Given the description of an element on the screen output the (x, y) to click on. 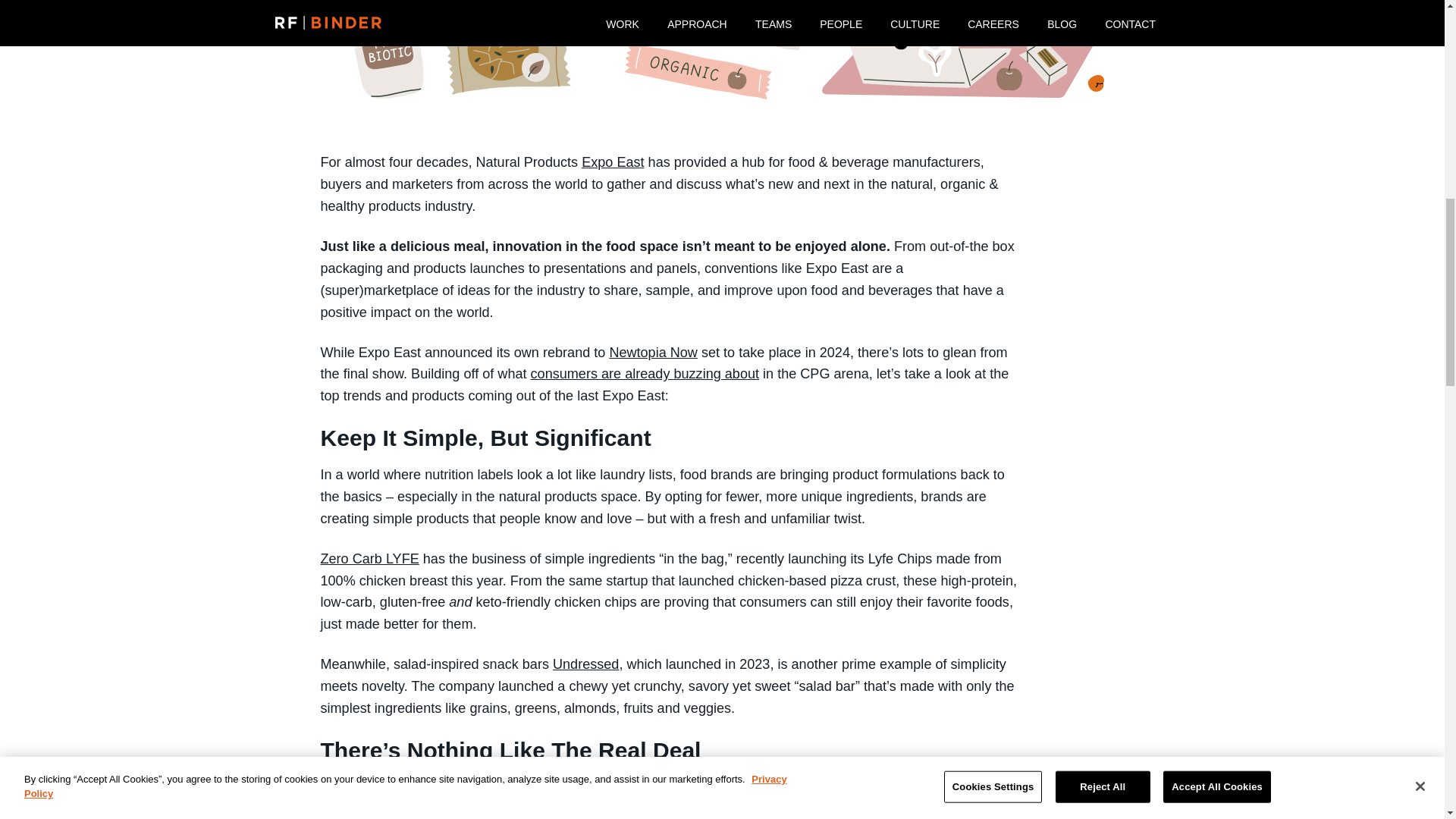
Expo East (611, 161)
Undressed (585, 663)
Zero Carb LYFE (369, 558)
Newtopia Now (652, 352)
consumers are already buzzing about (644, 373)
CAGR of over 7 percent (905, 786)
